Given the description of an element on the screen output the (x, y) to click on. 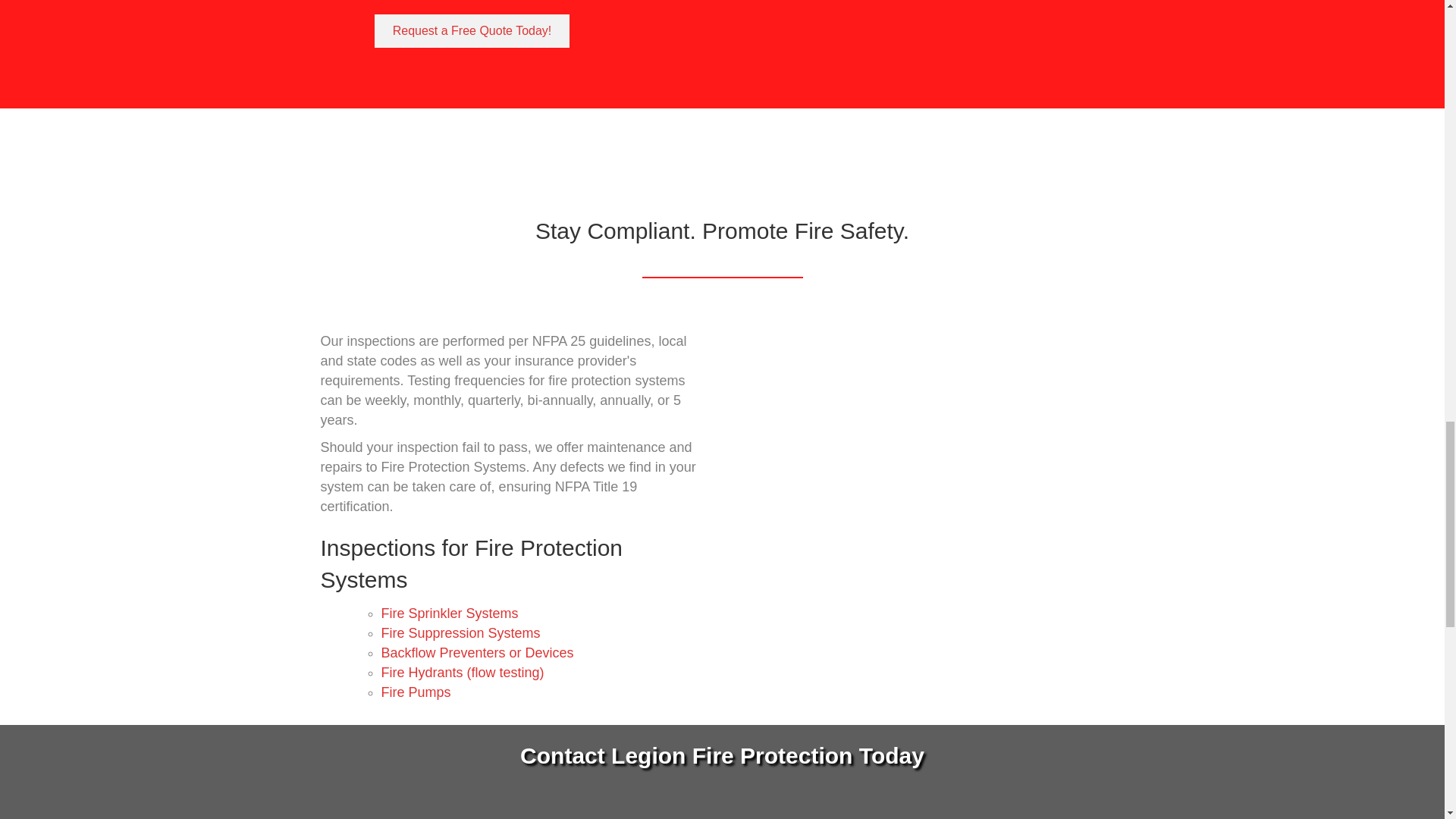
ups annual fire sprinkler inspection 1 (930, 479)
